Given the description of an element on the screen output the (x, y) to click on. 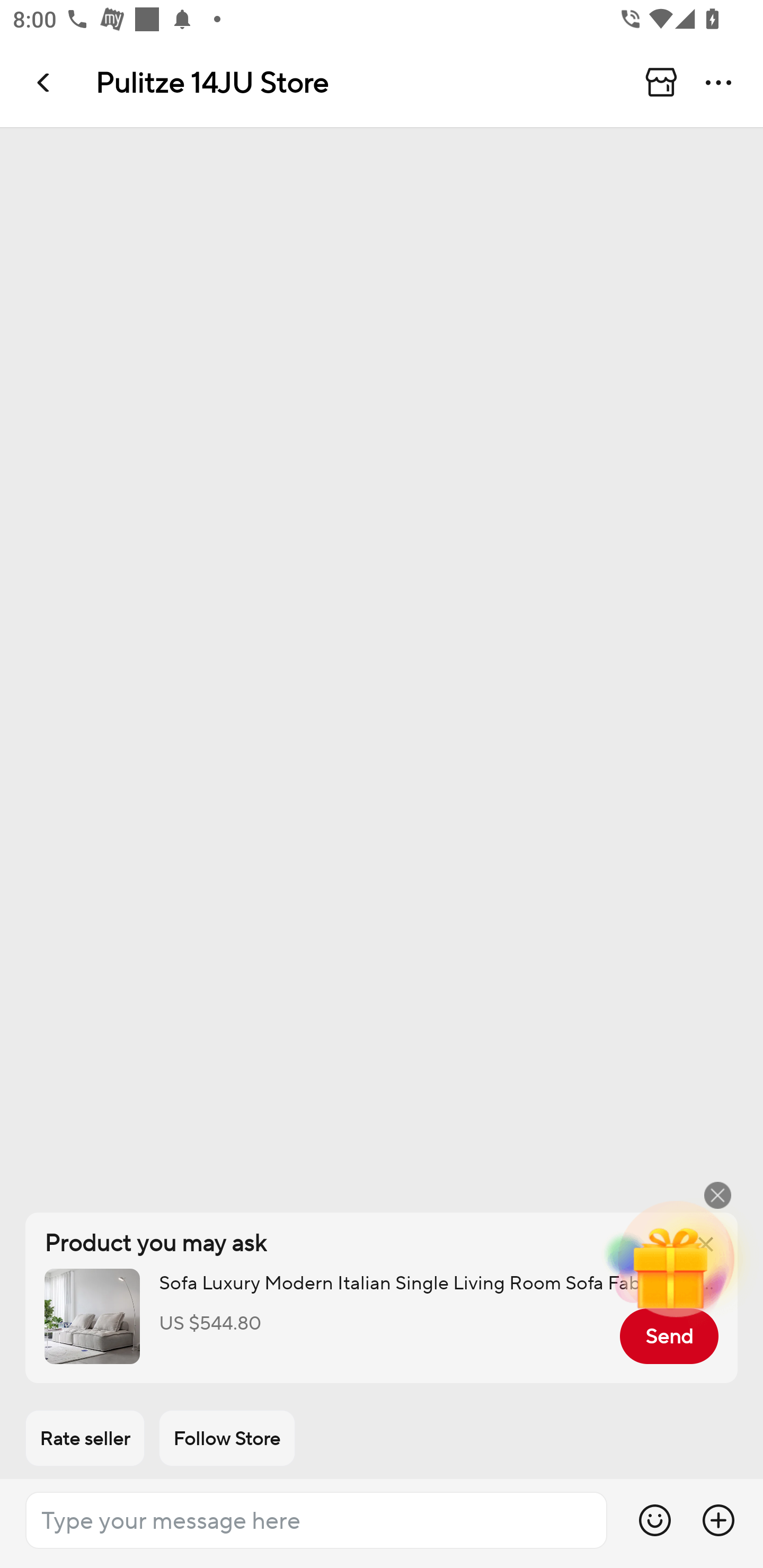
Navigate up (44, 82)
Send (668, 1335)
Rate seller (84, 1437)
Follow Store (226, 1437)
Type your message here (316, 1520)
